Given the description of an element on the screen output the (x, y) to click on. 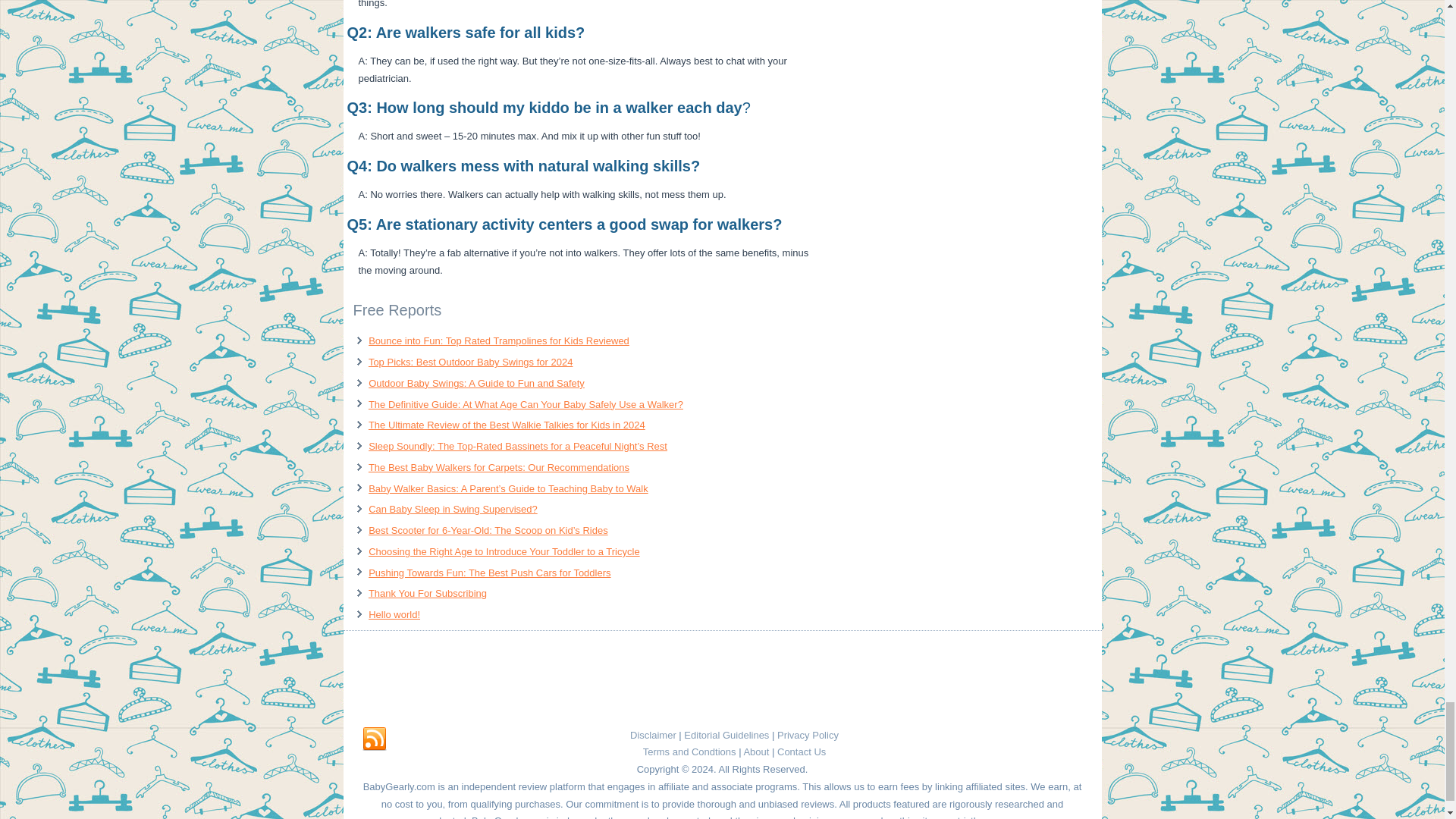
Privacy Policy (807, 735)
Disclaimer (653, 735)
Editorial Guidelines (726, 735)
Hello world! (394, 614)
Contact Us (801, 751)
About (755, 751)
Pushing Towards Fun: The Best Push Cars for Toddlers (489, 572)
Terms and Condtions (689, 751)
Bounce into Fun: Top Rated Trampolines for Kids Reviewed (498, 340)
Thank You For Subscribing (427, 593)
The Best Baby Walkers for Carpets: Our Recommendations (498, 467)
Can Baby Sleep in Swing Supervised? (452, 509)
